Given the description of an element on the screen output the (x, y) to click on. 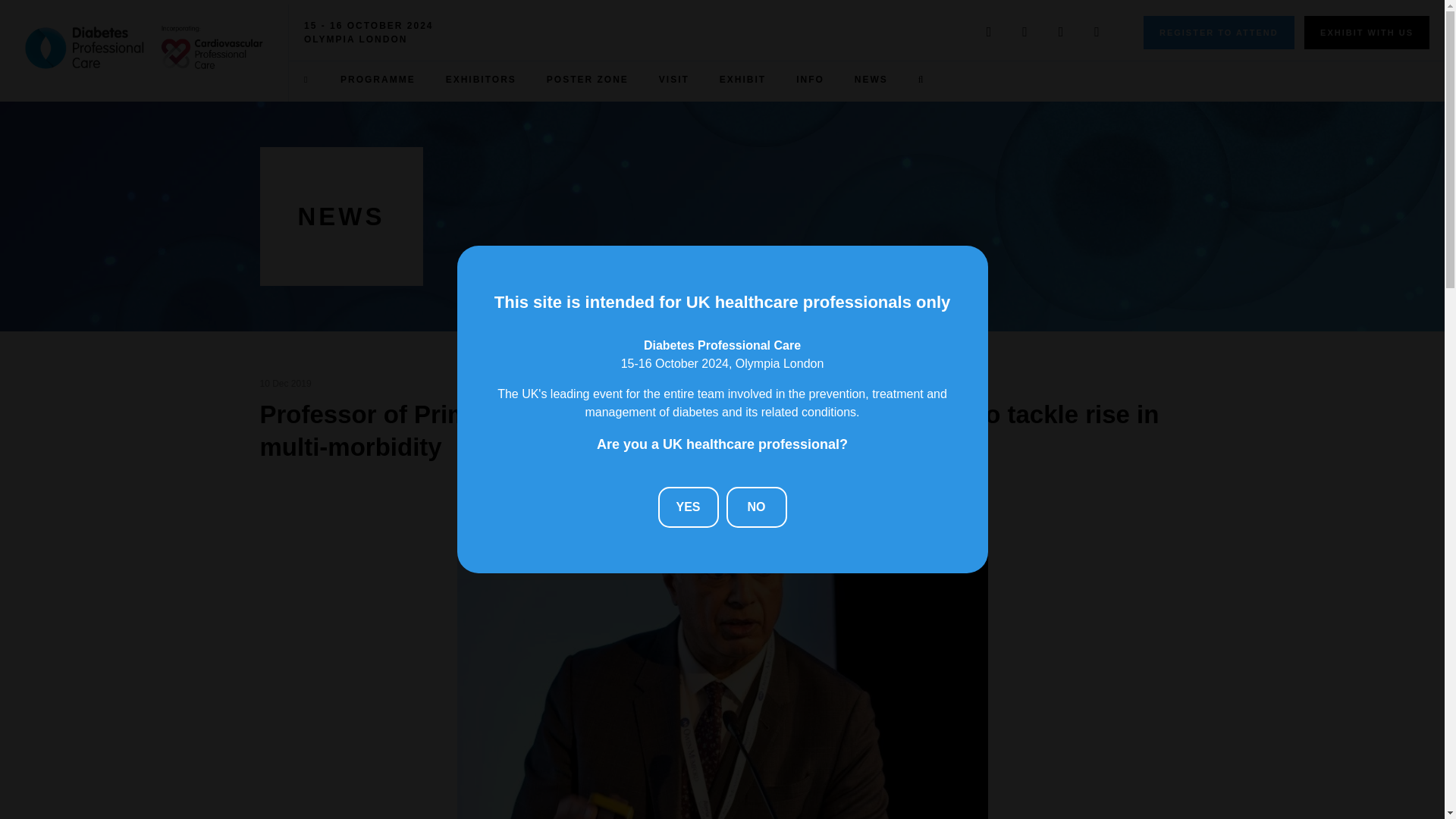
EXHIBIT WITH US (1366, 32)
LinkedIn (1025, 31)
NO (756, 506)
Instagram (1096, 31)
REGISTER TO ATTEND (1218, 32)
Facebook (1061, 31)
PROGRAMME (377, 79)
YES (688, 506)
Twitter (989, 31)
HOME (306, 79)
